Given the description of an element on the screen output the (x, y) to click on. 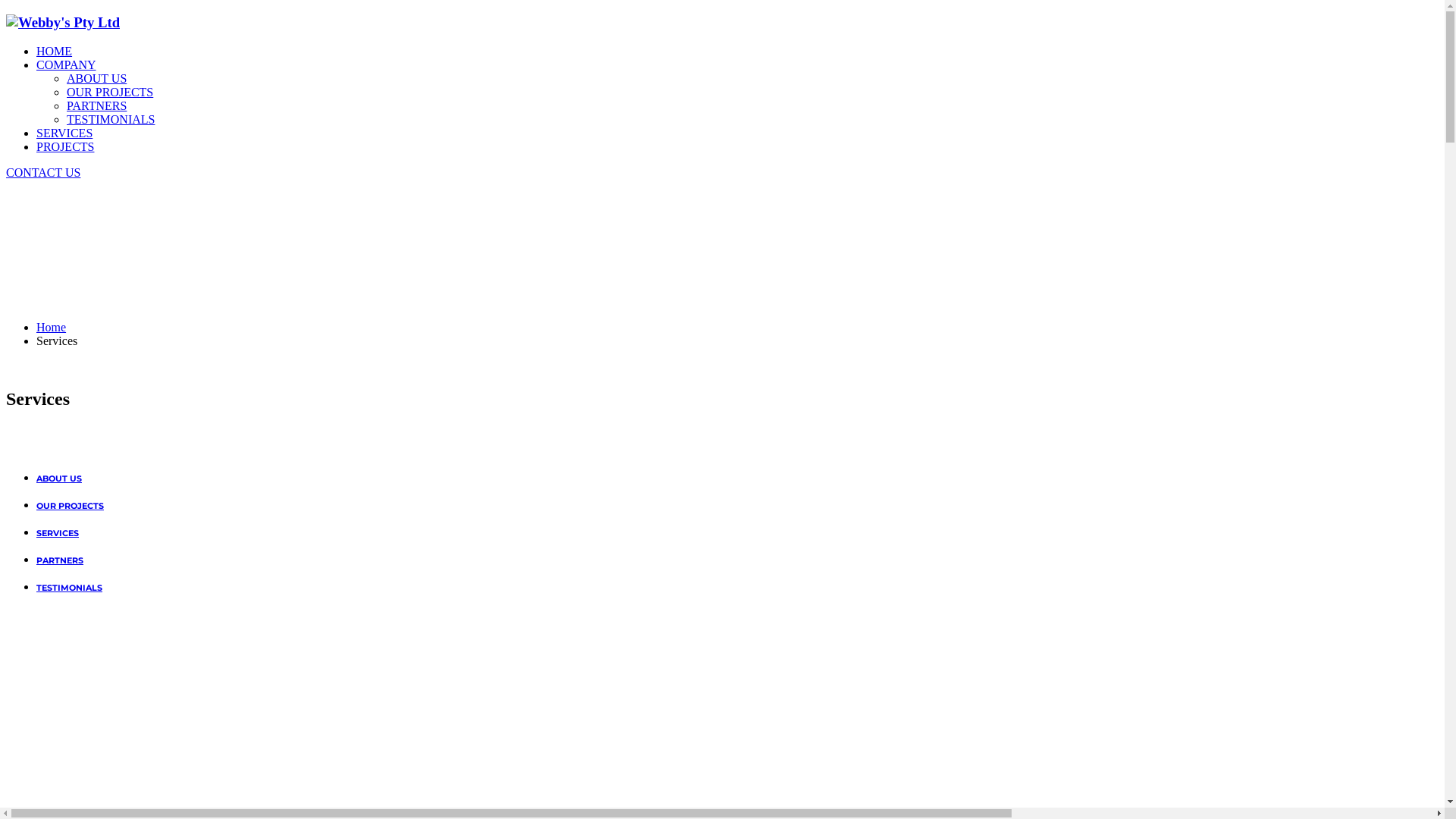
PARTNERS Element type: text (59, 560)
HOME Element type: text (54, 50)
Home Element type: text (50, 326)
OUR PROJECTS Element type: text (109, 91)
CONTACT US Element type: text (43, 172)
ABOUT US Element type: text (96, 78)
OUR PROJECTS Element type: text (69, 505)
COMPANY Element type: text (66, 64)
TESTIMONIALS Element type: text (110, 118)
PROJECTS Element type: text (65, 146)
SERVICES Element type: text (64, 132)
The Cabling Specialists Element type: hover (62, 22)
SERVICES Element type: text (57, 532)
ABOUT US Element type: text (58, 478)
PARTNERS Element type: text (96, 105)
TESTIMONIALS Element type: text (69, 587)
